Given the description of an element on the screen output the (x, y) to click on. 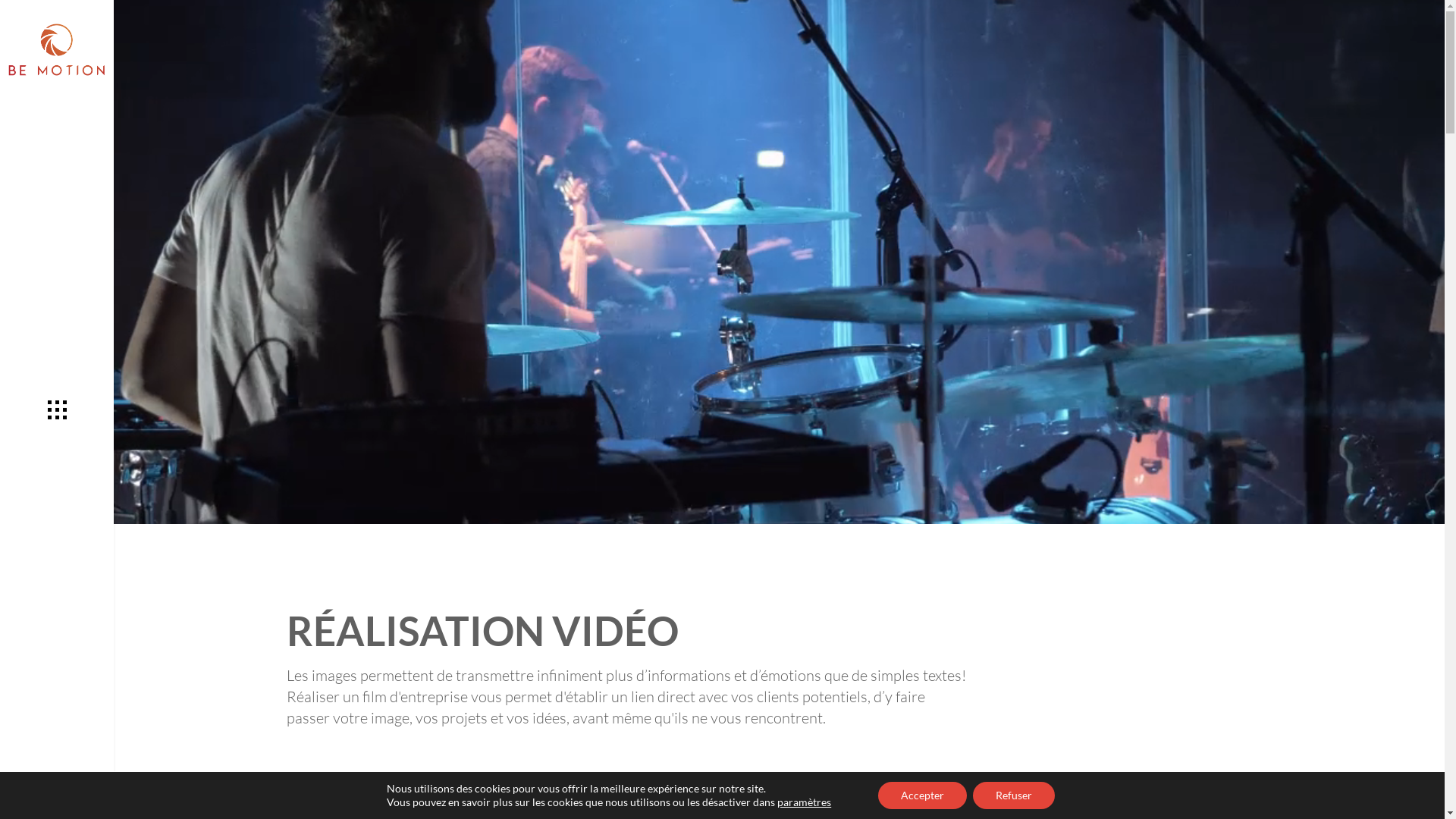
Accepter Element type: text (922, 795)
Refuser Element type: text (1013, 795)
